Given the description of an element on the screen output the (x, y) to click on. 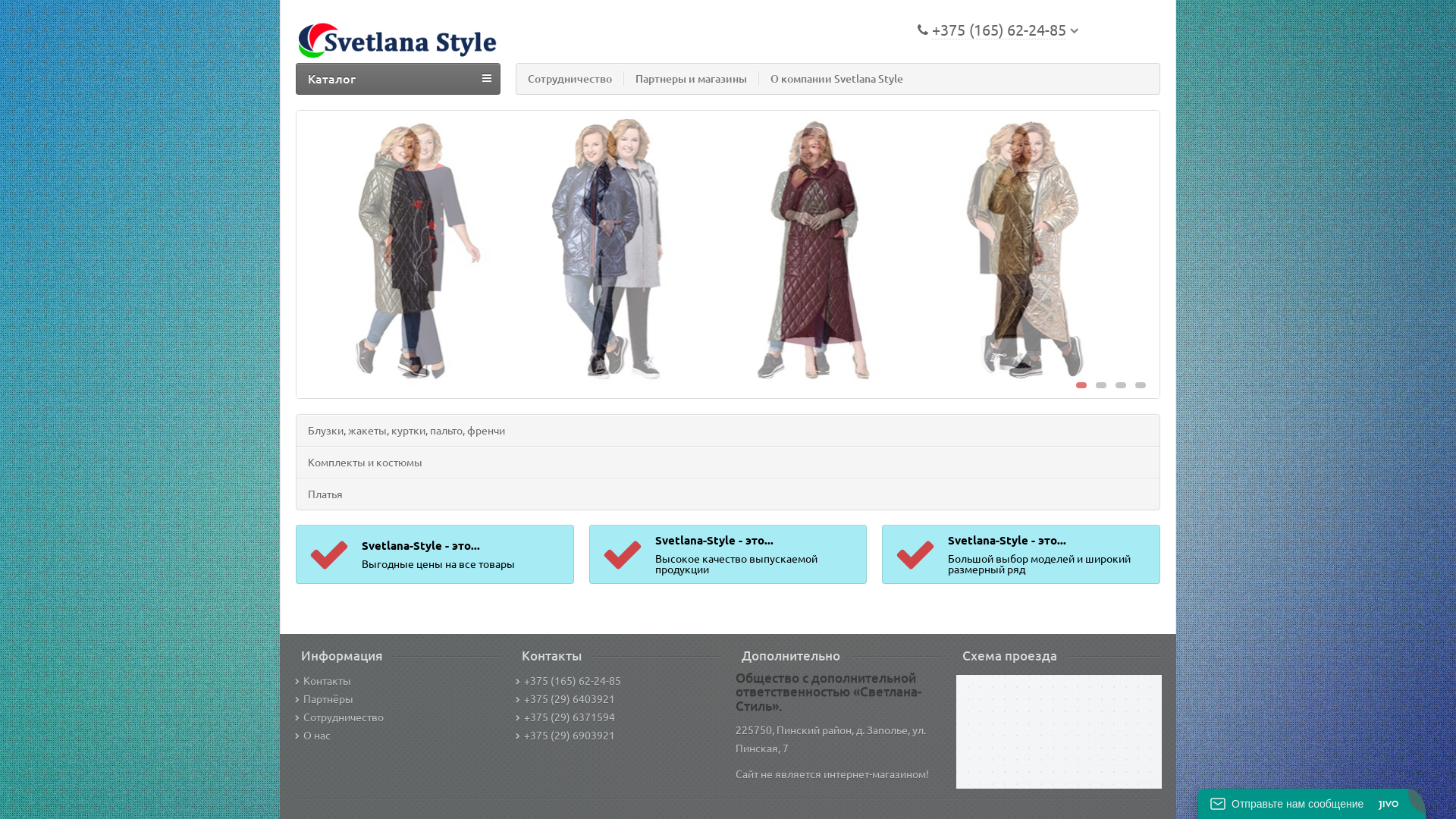
+375 (29) 6371594 Element type: text (565, 716)
+375 (165) 62-24-85 Element type: text (568, 680)
+375 (29) 6403921 Element type: text (565, 698)
+375 (29) 6903921 Element type: text (565, 734)
